Given the description of an element on the screen output the (x, y) to click on. 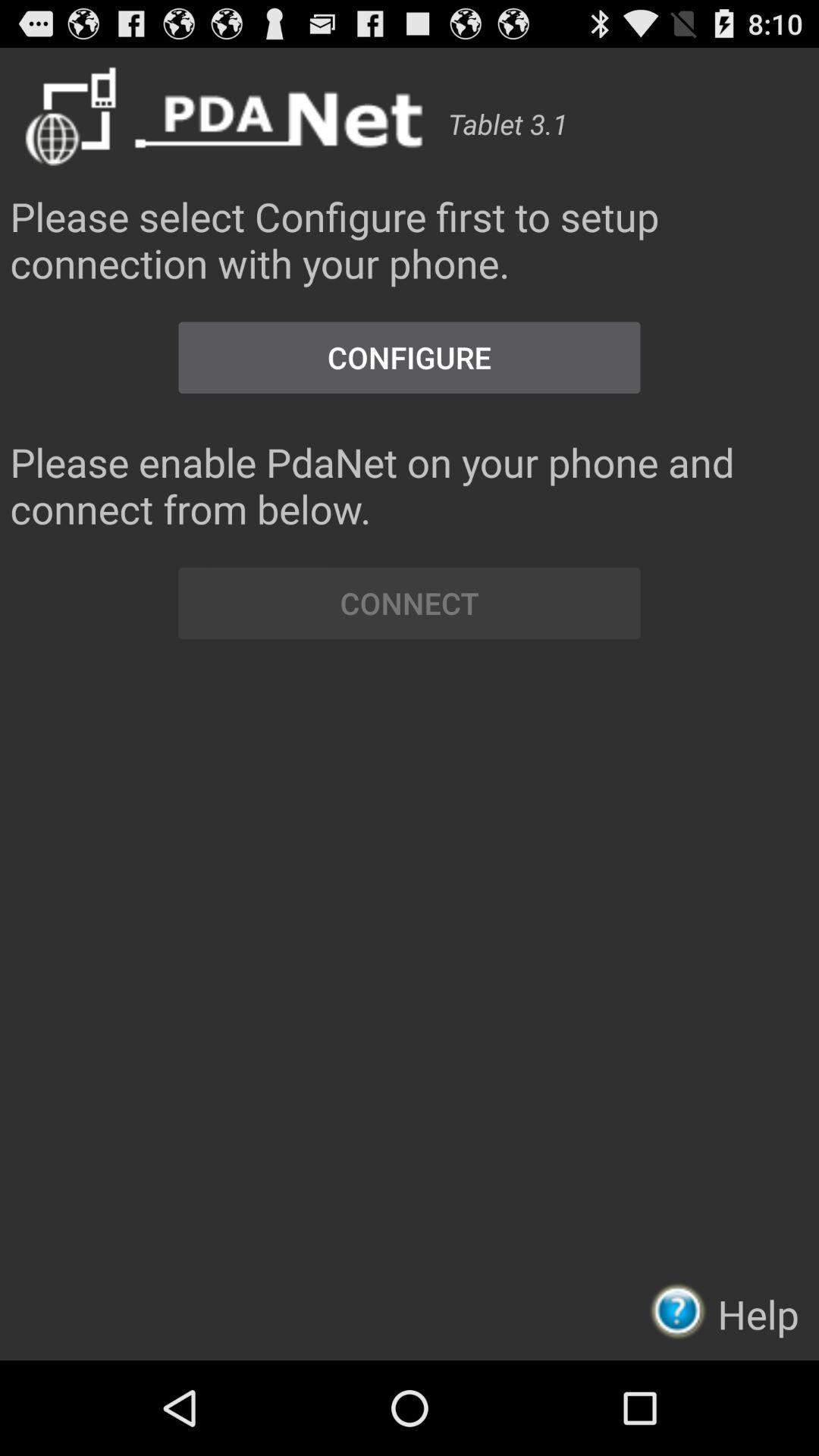
open button below connect icon (682, 1310)
